Given the description of an element on the screen output the (x, y) to click on. 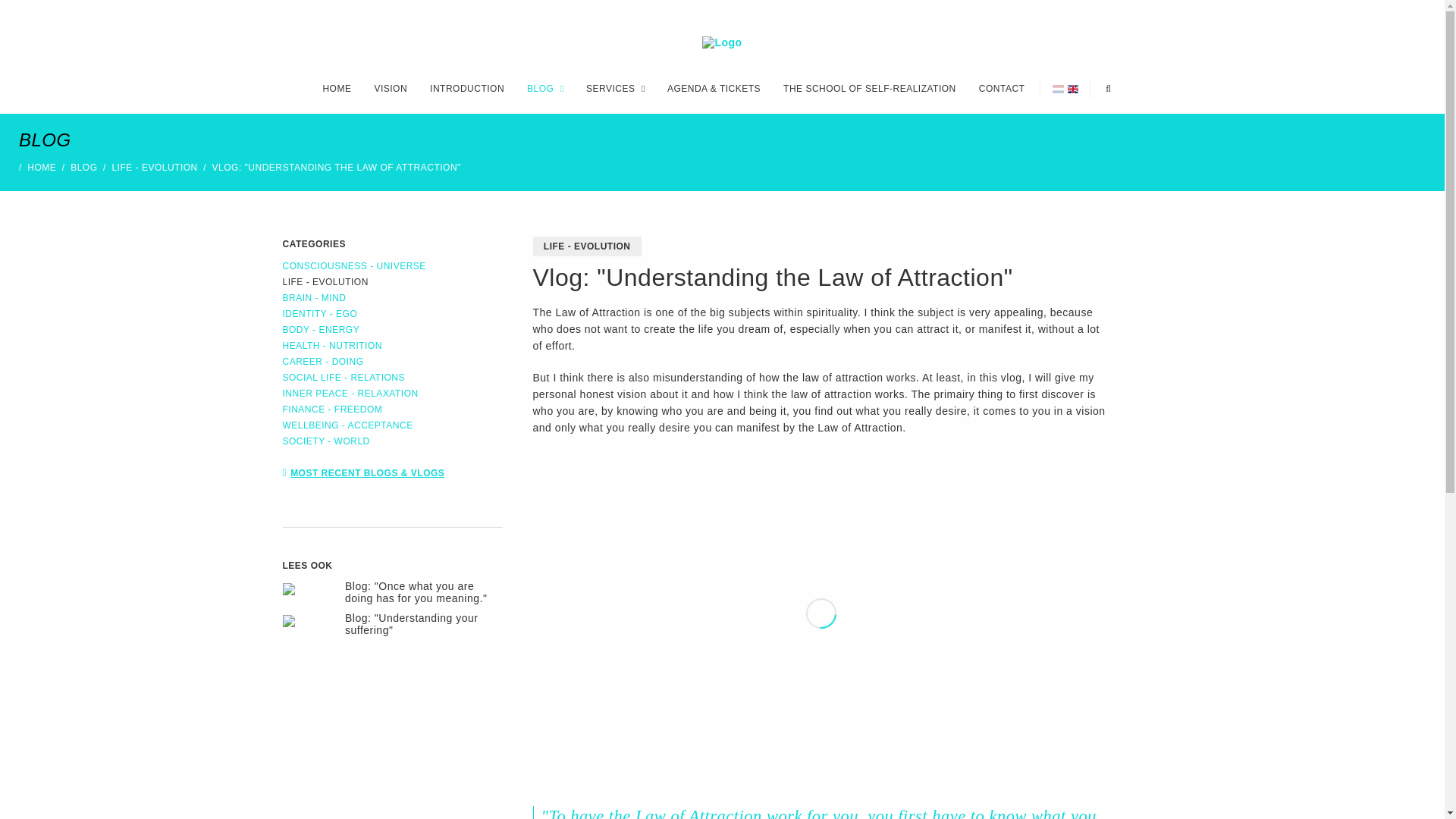
THE SCHOOL OF SELF-REALIZATION (869, 88)
Click here for the 'Introduction' page. (467, 88)
Click here for the 'Vision' page. (390, 88)
Click here for the 'Blog' page. (539, 88)
Click here for the 'Services' page. (610, 88)
CONTACT (1001, 88)
SERVICES (610, 88)
BLOG (539, 88)
Click here for the 'Home' page. (336, 88)
HOME (336, 88)
INTRODUCTION (467, 88)
VISION (390, 88)
